Given the description of an element on the screen output the (x, y) to click on. 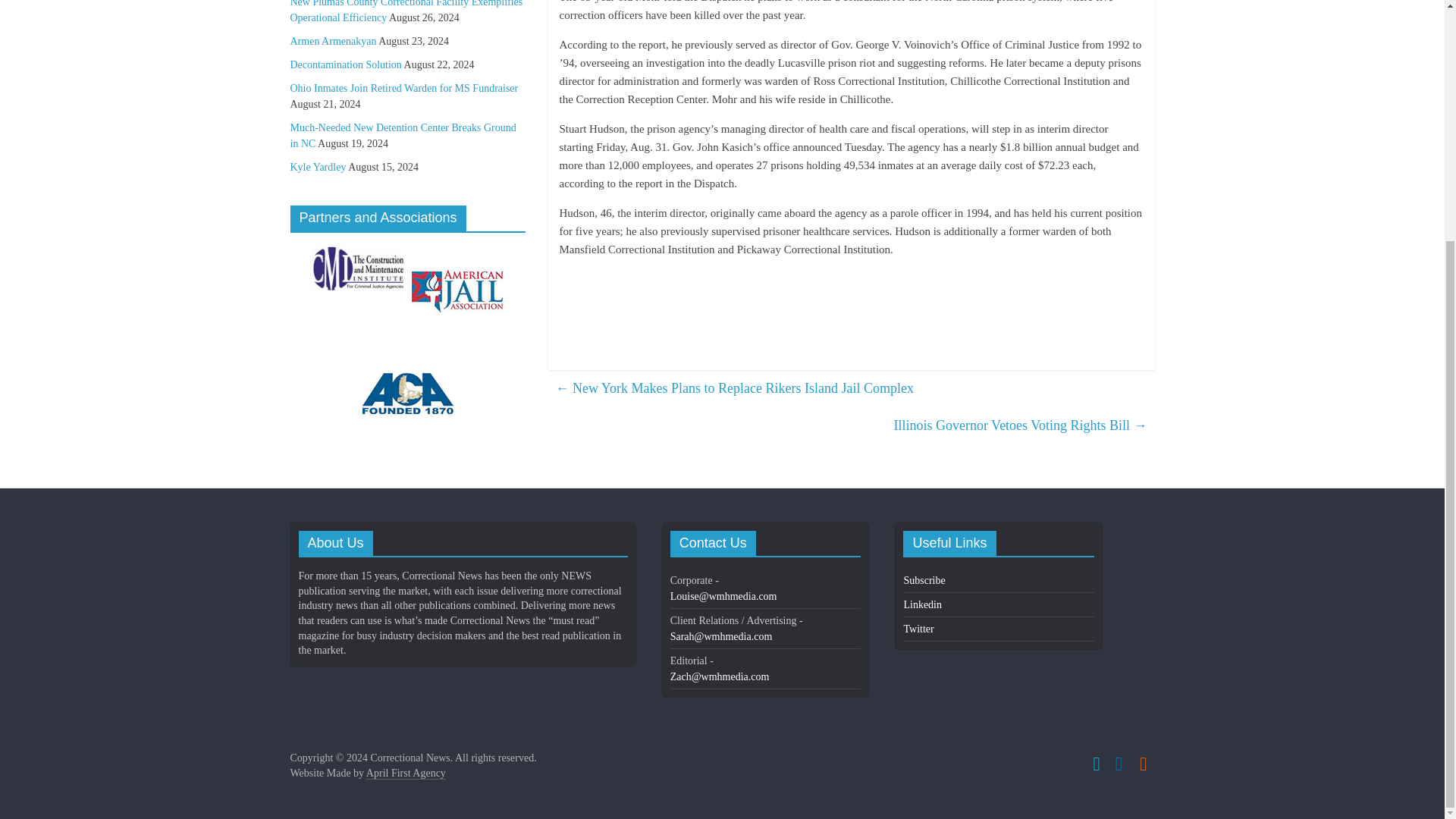
Much-Needed New Detention Center Breaks Ground in NC (402, 135)
Kyle Yardley (317, 166)
Decontamination Solution (345, 64)
Armen Armenakyan (332, 41)
Ohio Inmates Join Retired Warden for MS Fundraiser (403, 88)
